Given the description of an element on the screen output the (x, y) to click on. 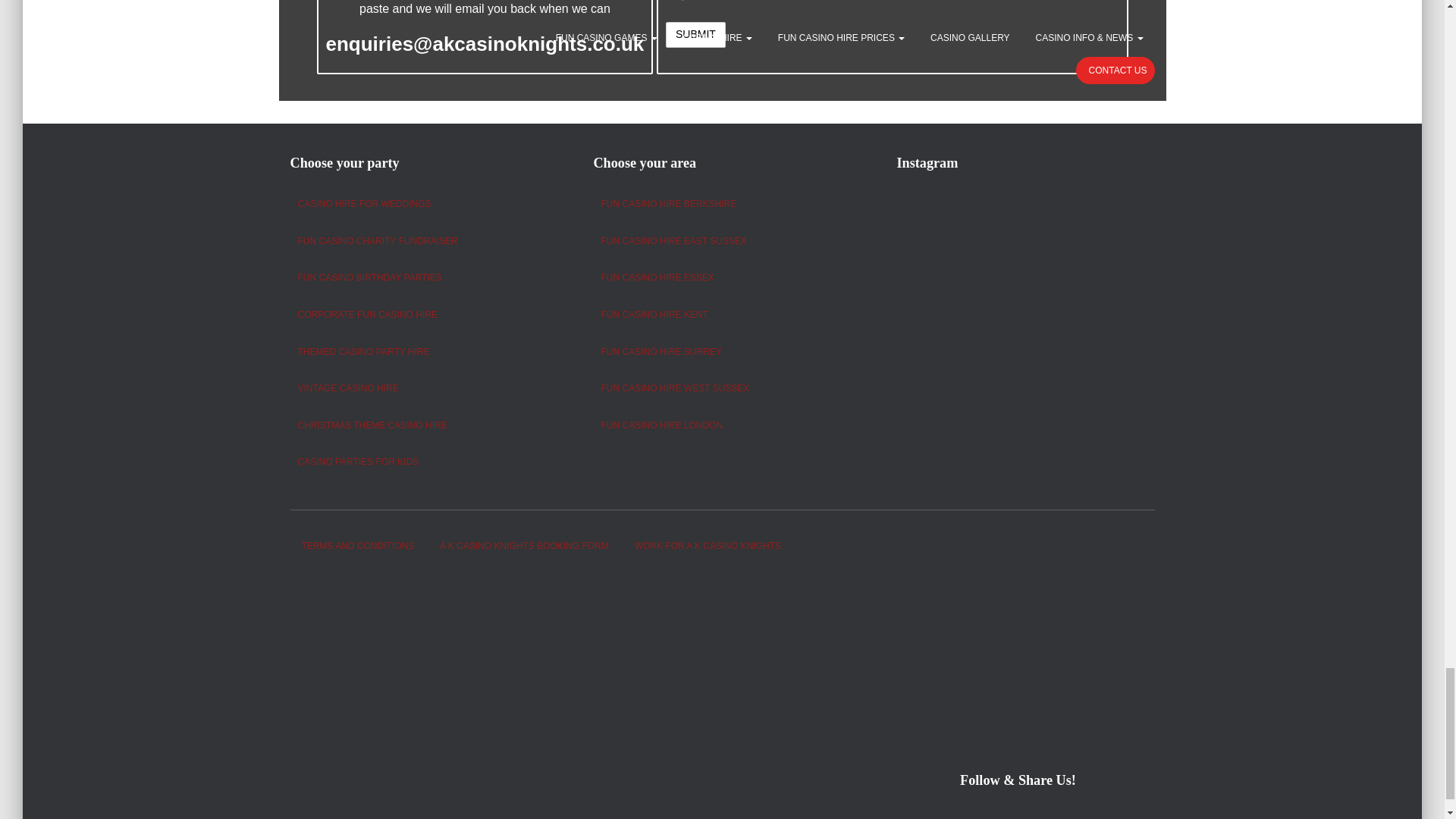
Submit (695, 34)
